Given the description of an element on the screen output the (x, y) to click on. 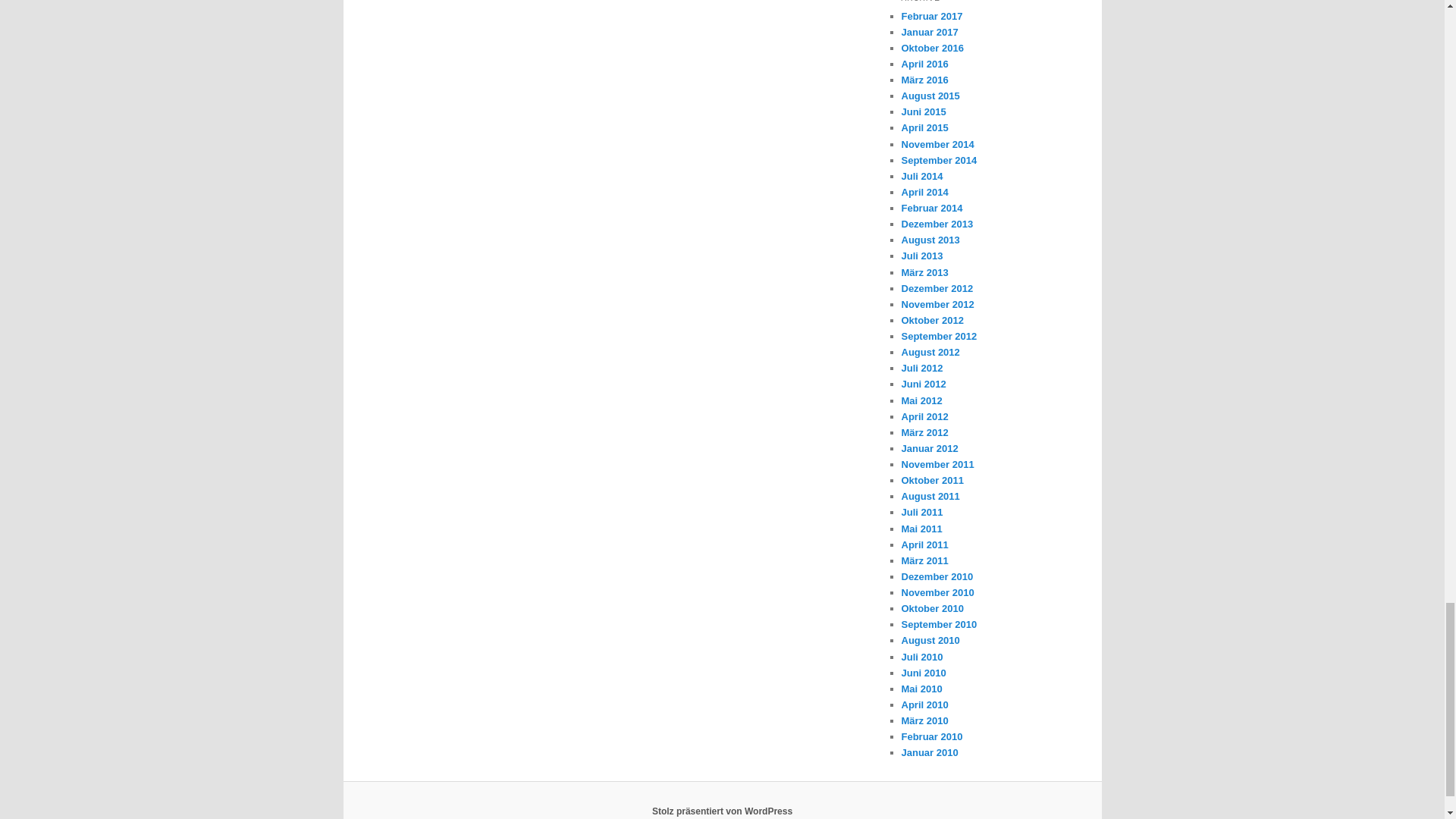
Semantic Personal Publishing Platform (722, 810)
